Given the description of an element on the screen output the (x, y) to click on. 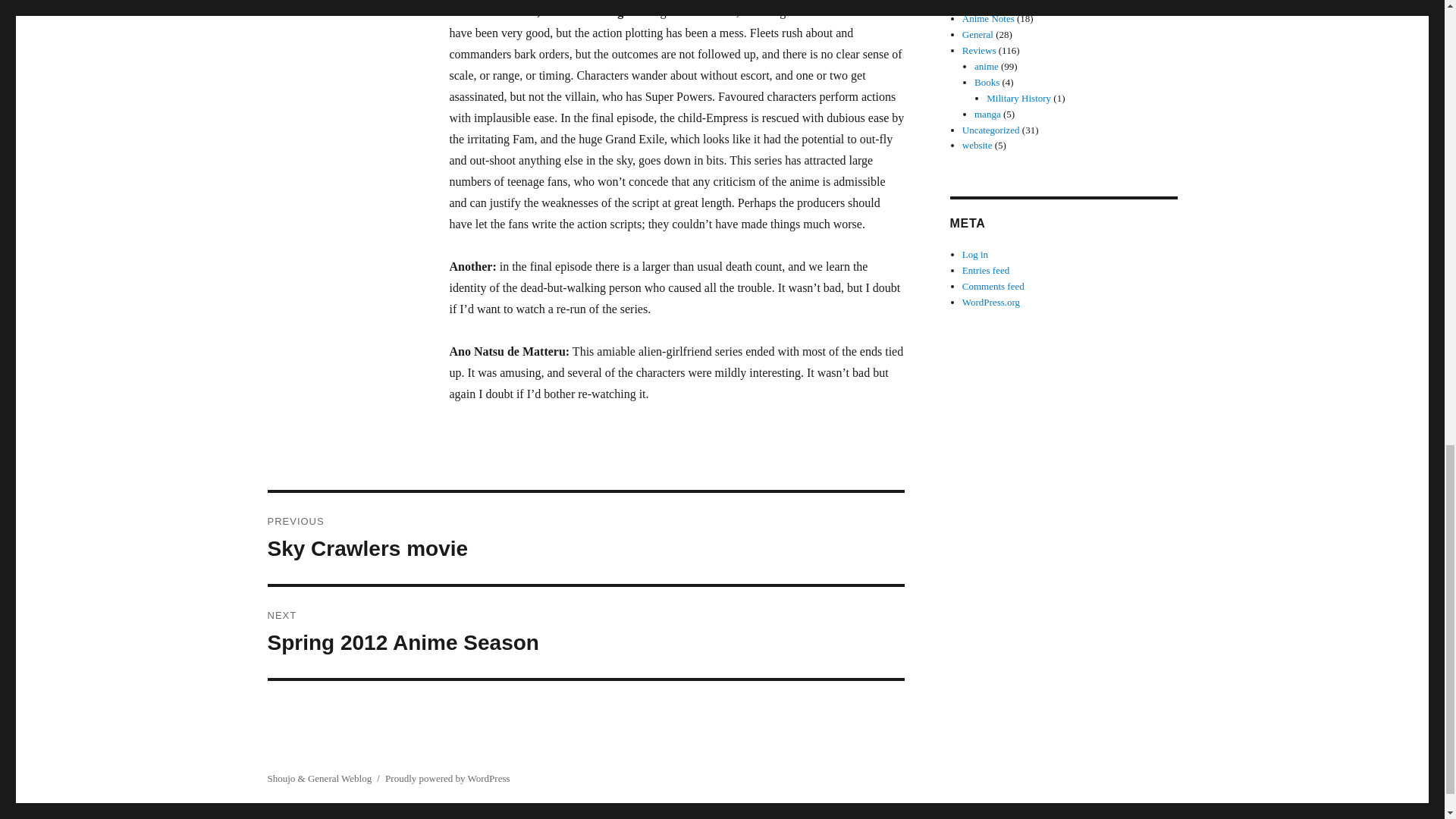
General (585, 538)
Reviews (977, 34)
Anime Notes (585, 632)
